Given the description of an element on the screen output the (x, y) to click on. 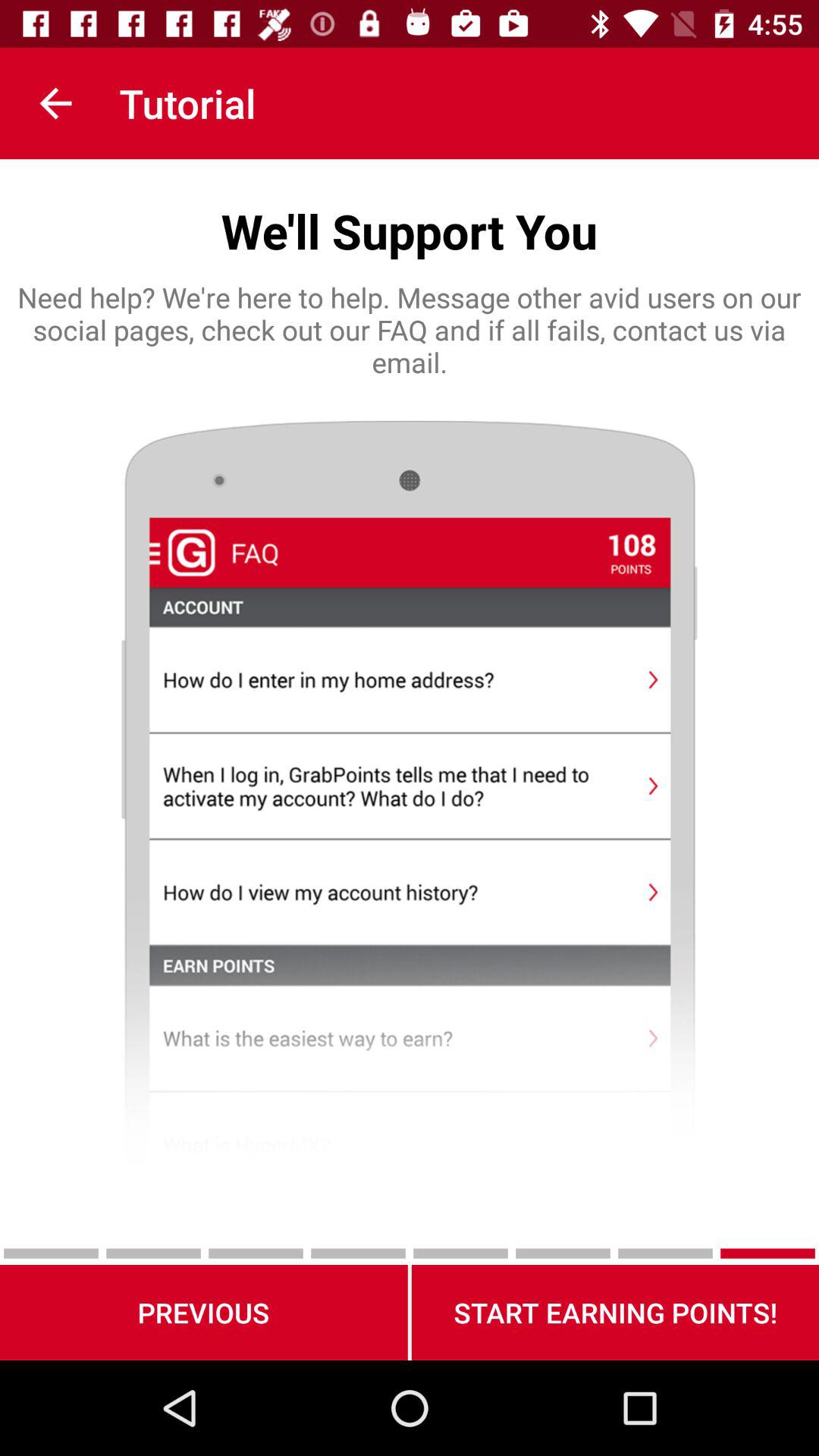
turn on the item to the right of previous (615, 1312)
